Given the description of an element on the screen output the (x, y) to click on. 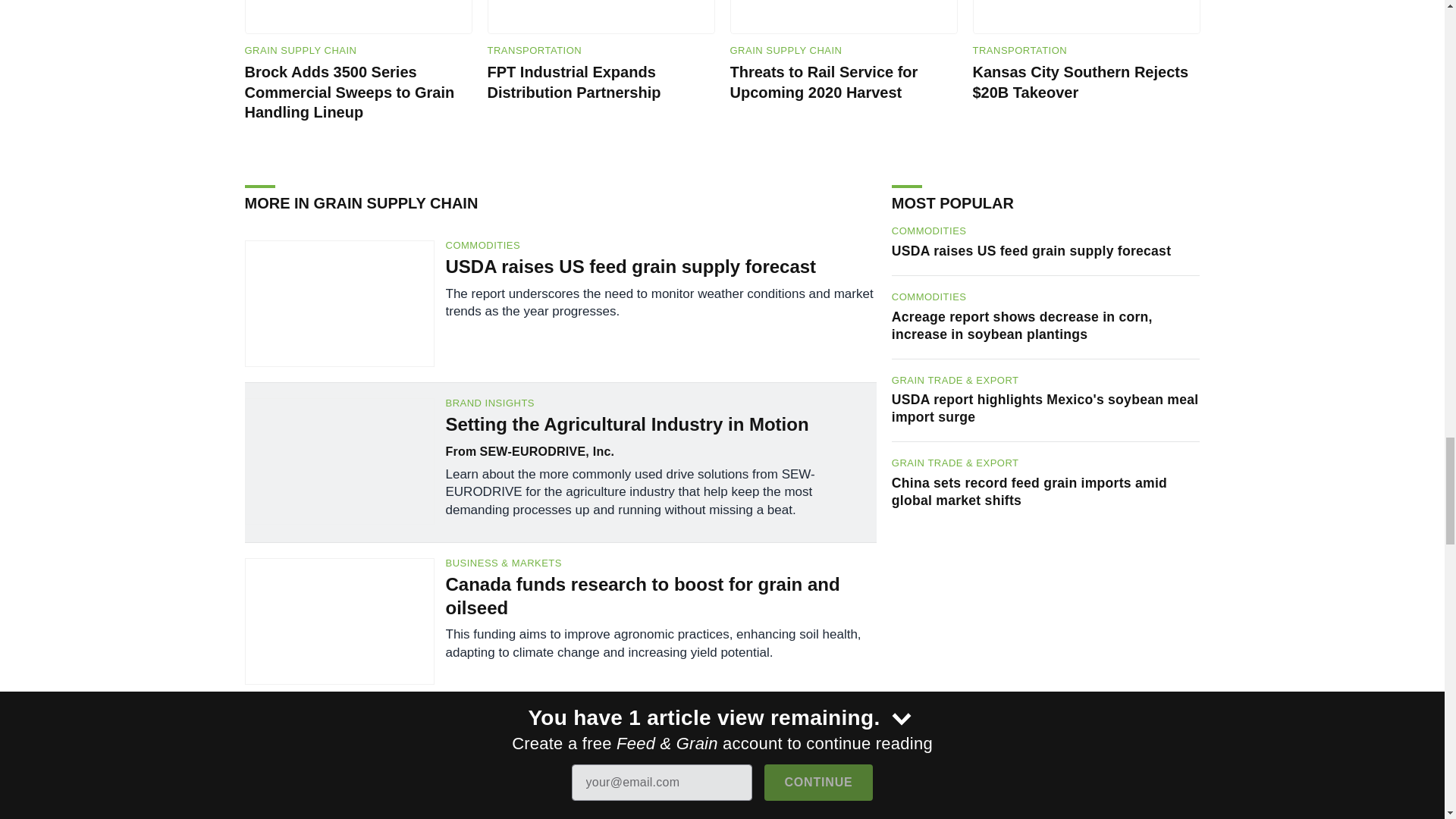
Grain Supply Chain (785, 51)
Grain Supply Chain (300, 51)
Brand Insights (660, 402)
